Given the description of an element on the screen output the (x, y) to click on. 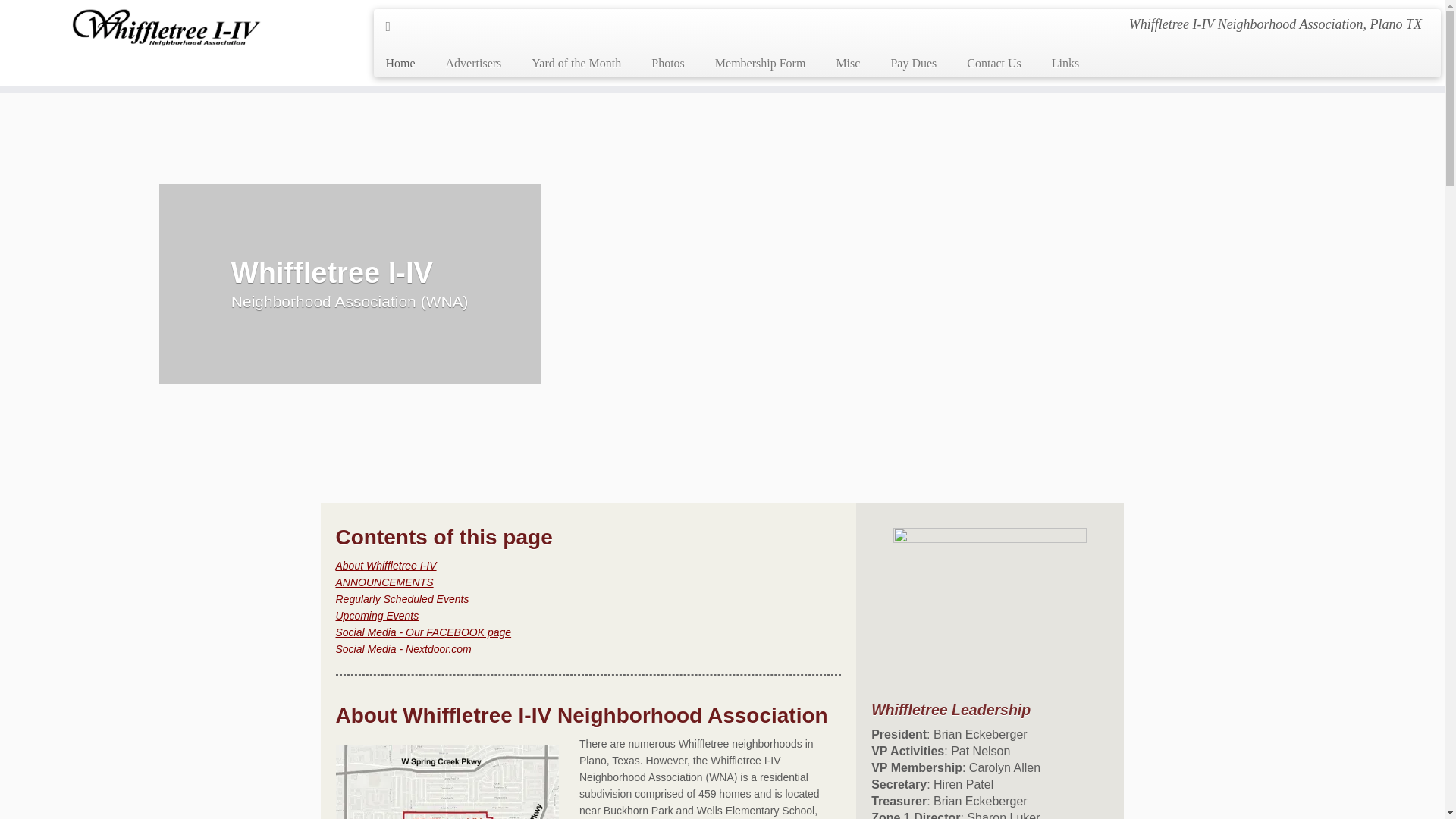
Photos (668, 62)
Contact Us (994, 62)
Home (405, 62)
Links (1057, 62)
Yard of the Month (576, 62)
ANNOUNCEMENTS (383, 582)
Membership Form (760, 62)
Pay Dues (913, 62)
Follow us on Facebook (392, 26)
Social Media - Nextdoor.com (402, 648)
Upcoming Events (376, 615)
About Whiffletree I-IV (384, 565)
Regularly Scheduled Events (401, 598)
Social Media - Our FACEBOOK page (422, 632)
Advertisers (473, 62)
